Given the description of an element on the screen output the (x, y) to click on. 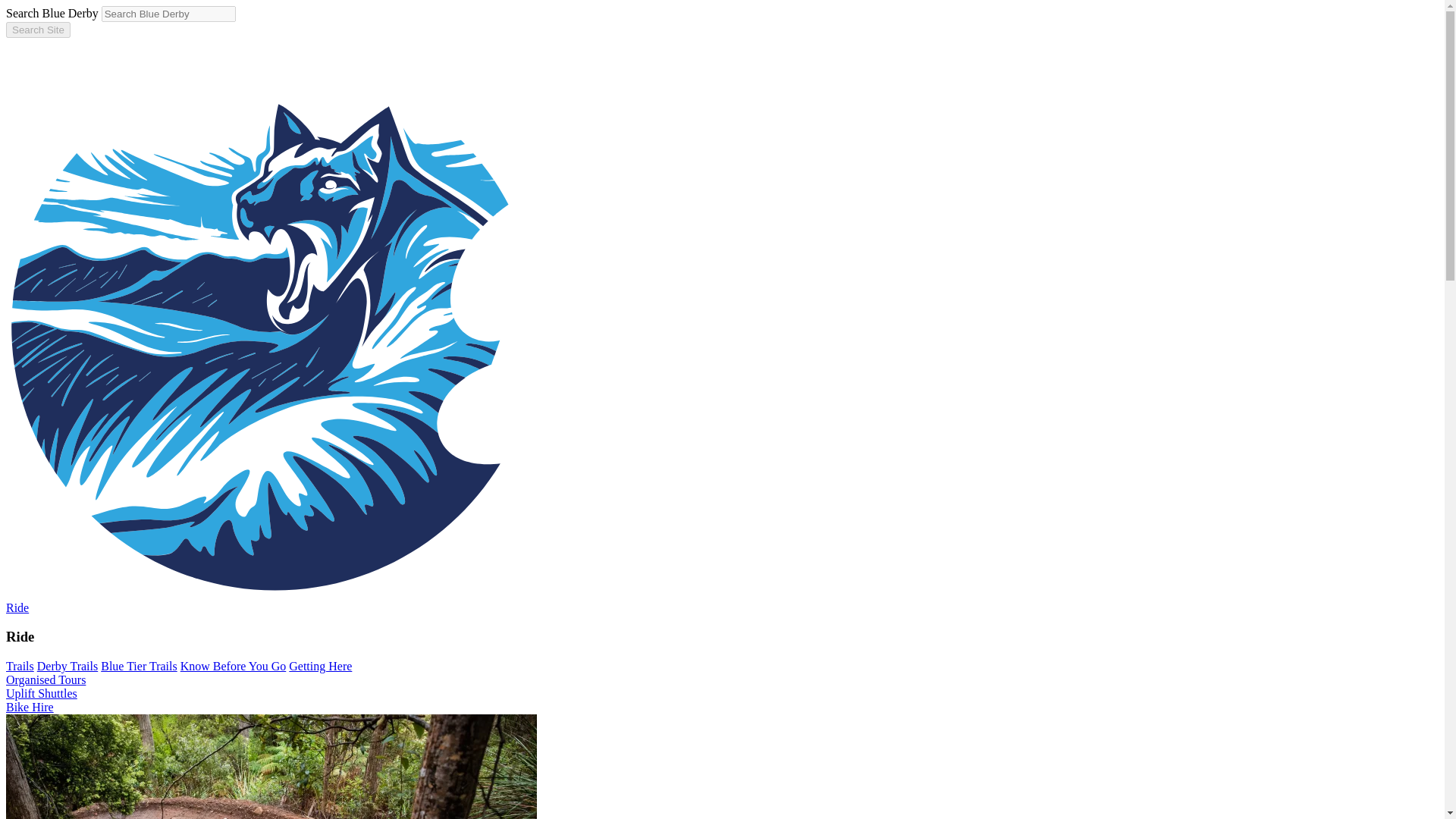
Getting Here (320, 666)
Search Site (37, 29)
Know Before You Go (233, 666)
Ride (17, 607)
Bike Hire (29, 707)
Trails (19, 666)
Uplift Shuttles (41, 693)
Search (37, 29)
Derby Trails (67, 666)
Blue Tier Trails (138, 666)
